Given the description of an element on the screen output the (x, y) to click on. 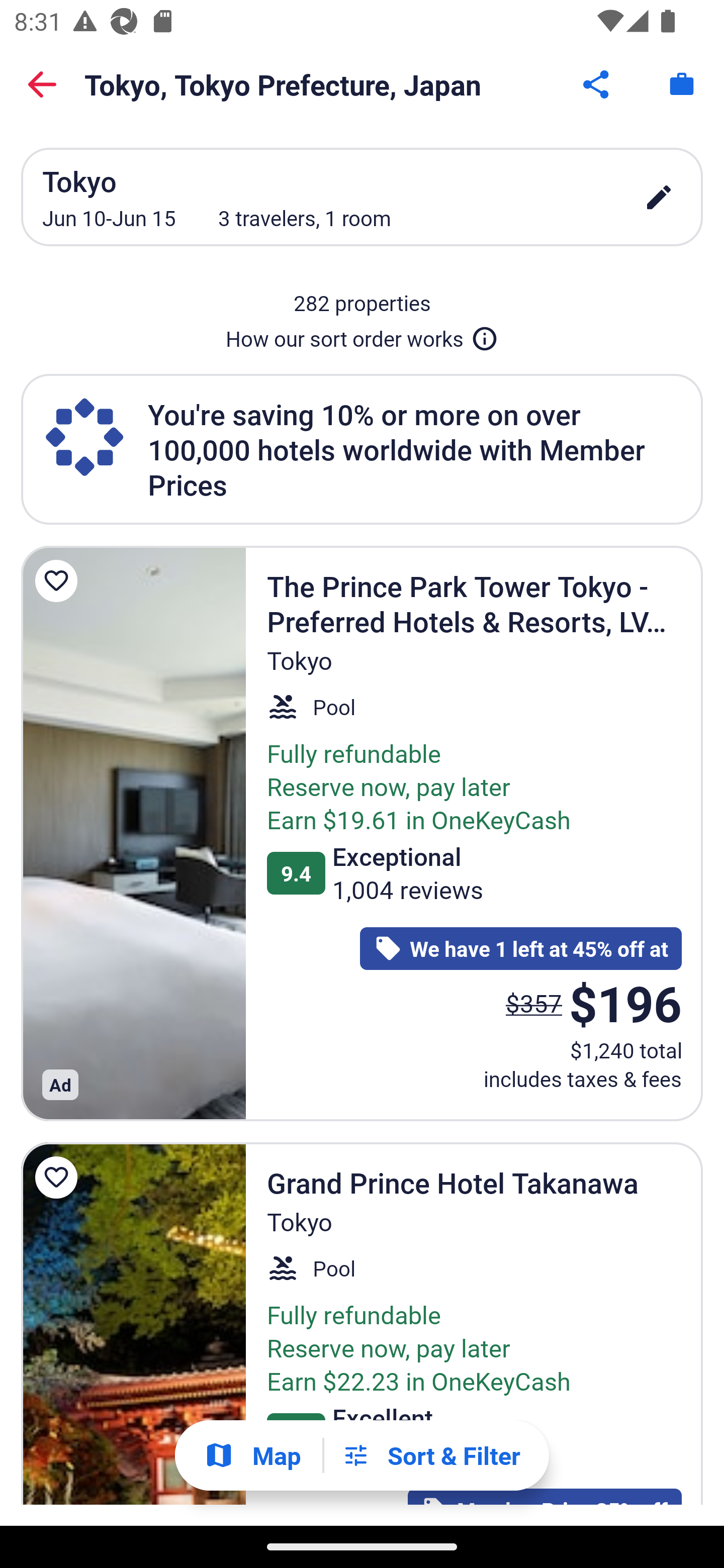
Back (42, 84)
Share Button (597, 84)
Trips. Button (681, 84)
Tokyo Jun 10-Jun 15 3 travelers, 1 room edit (361, 196)
How our sort order works (361, 334)
$357 The price was $357 (533, 1003)
Save Grand Prince Hotel Takanawa to a trip (59, 1177)
Grand Prince Hotel Takanawa (133, 1324)
Filters Sort & Filter Filters Button (430, 1455)
Show map Map Show map Button (252, 1455)
